Given the description of an element on the screen output the (x, y) to click on. 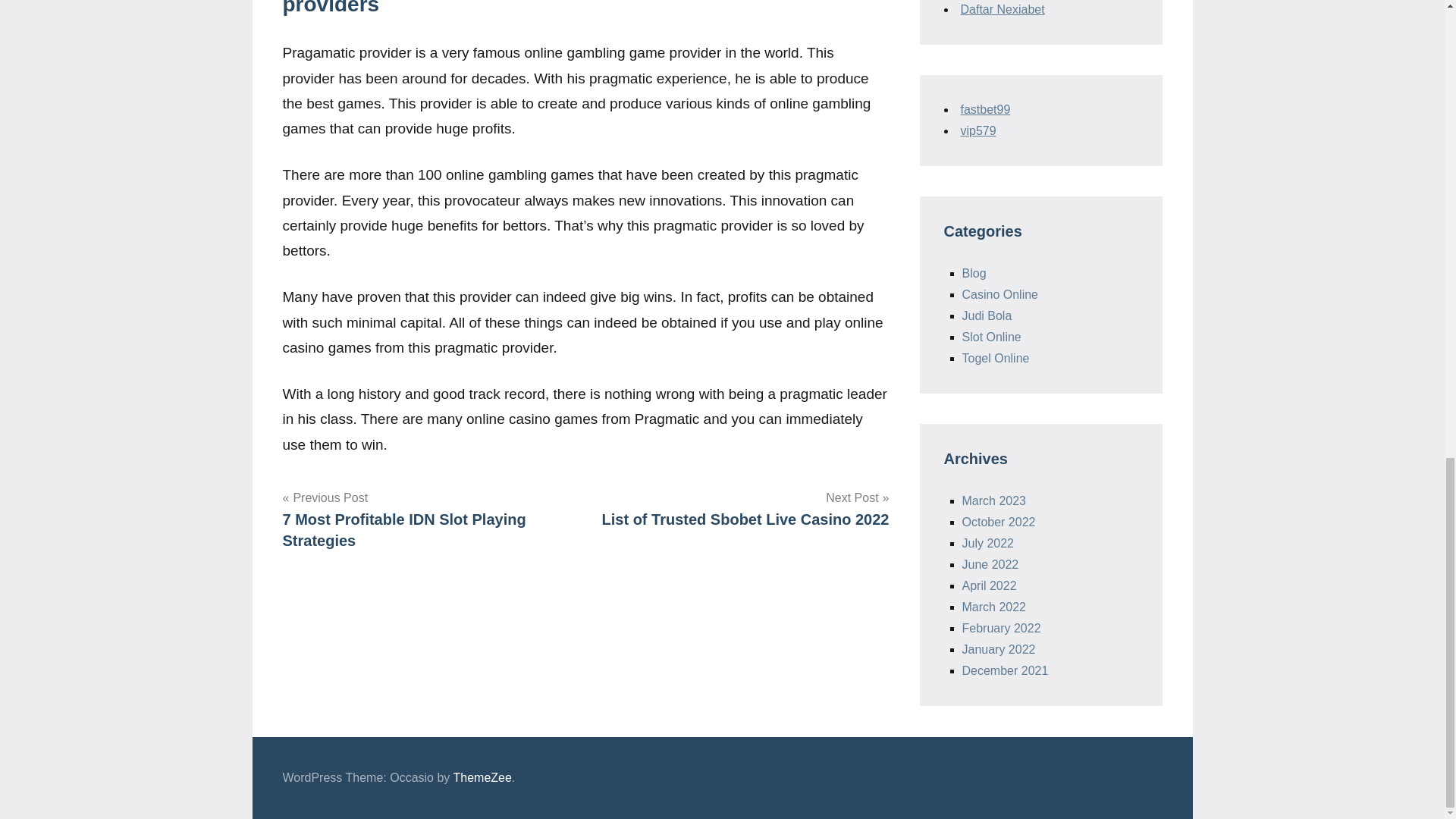
vip579 (742, 508)
Daftar Nexiabet (977, 130)
fastbet99 (1001, 9)
